Given the description of an element on the screen output the (x, y) to click on. 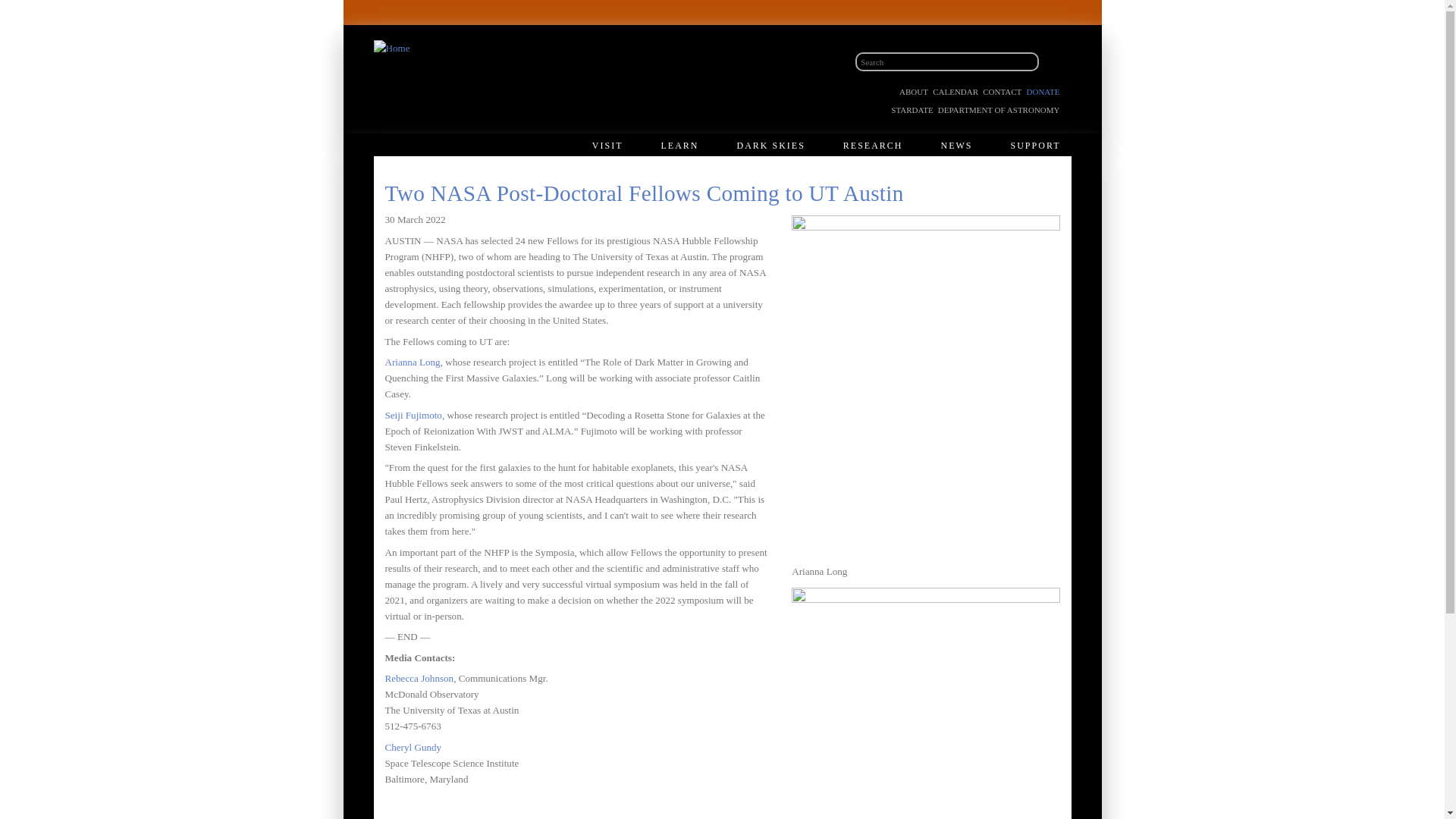
Contact (1002, 90)
DEPARTMENT OF ASTRONOMY (998, 109)
News release, images, and astronomy experts (960, 145)
Research (877, 145)
DARK SKIES (773, 145)
StarDate (912, 109)
Search (1049, 62)
CONTACT (1002, 90)
NEWS (960, 145)
